Given the description of an element on the screen output the (x, y) to click on. 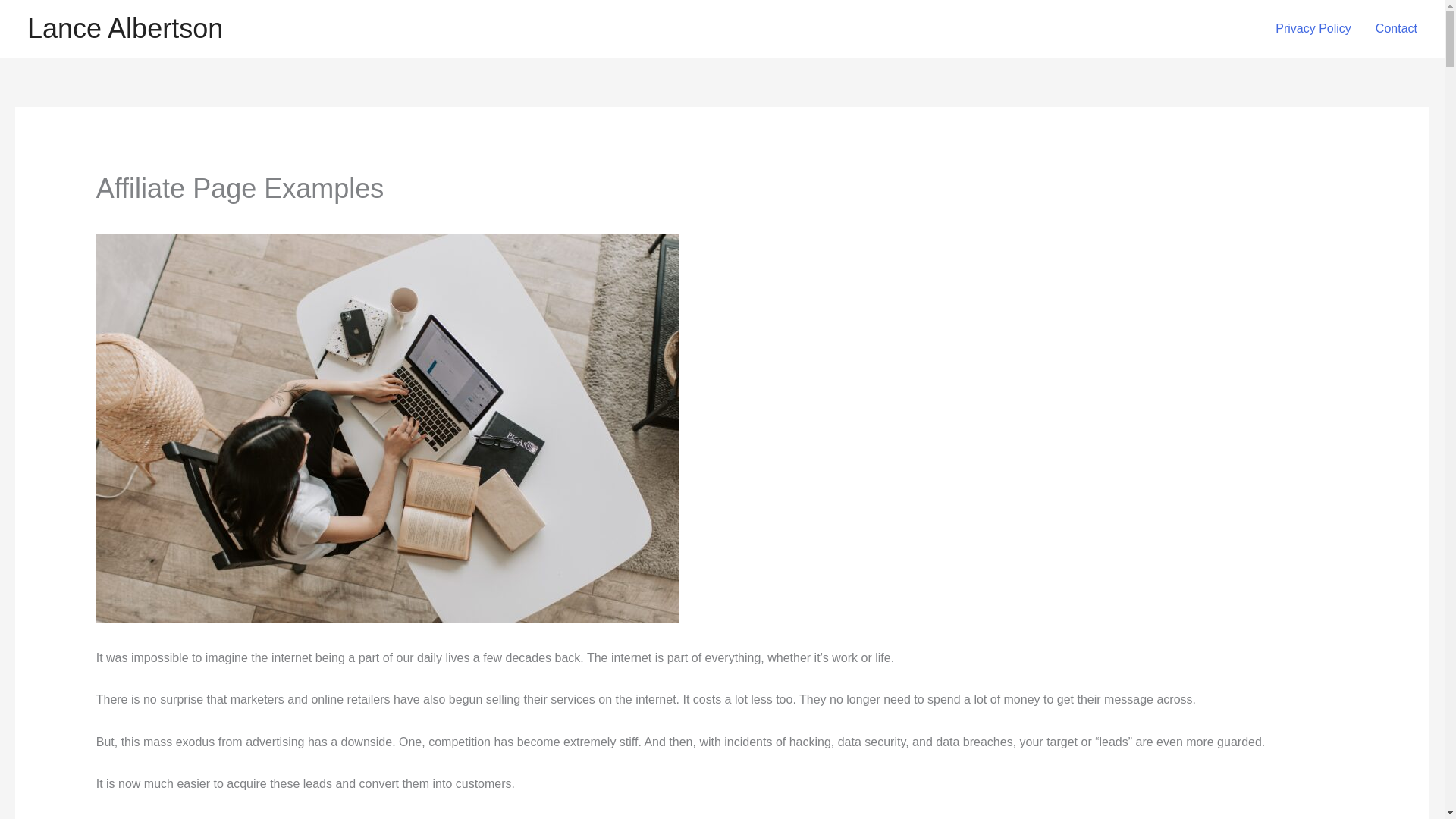
Contact (1395, 28)
Privacy Policy (1312, 28)
Lance Albertson (124, 28)
